Given the description of an element on the screen output the (x, y) to click on. 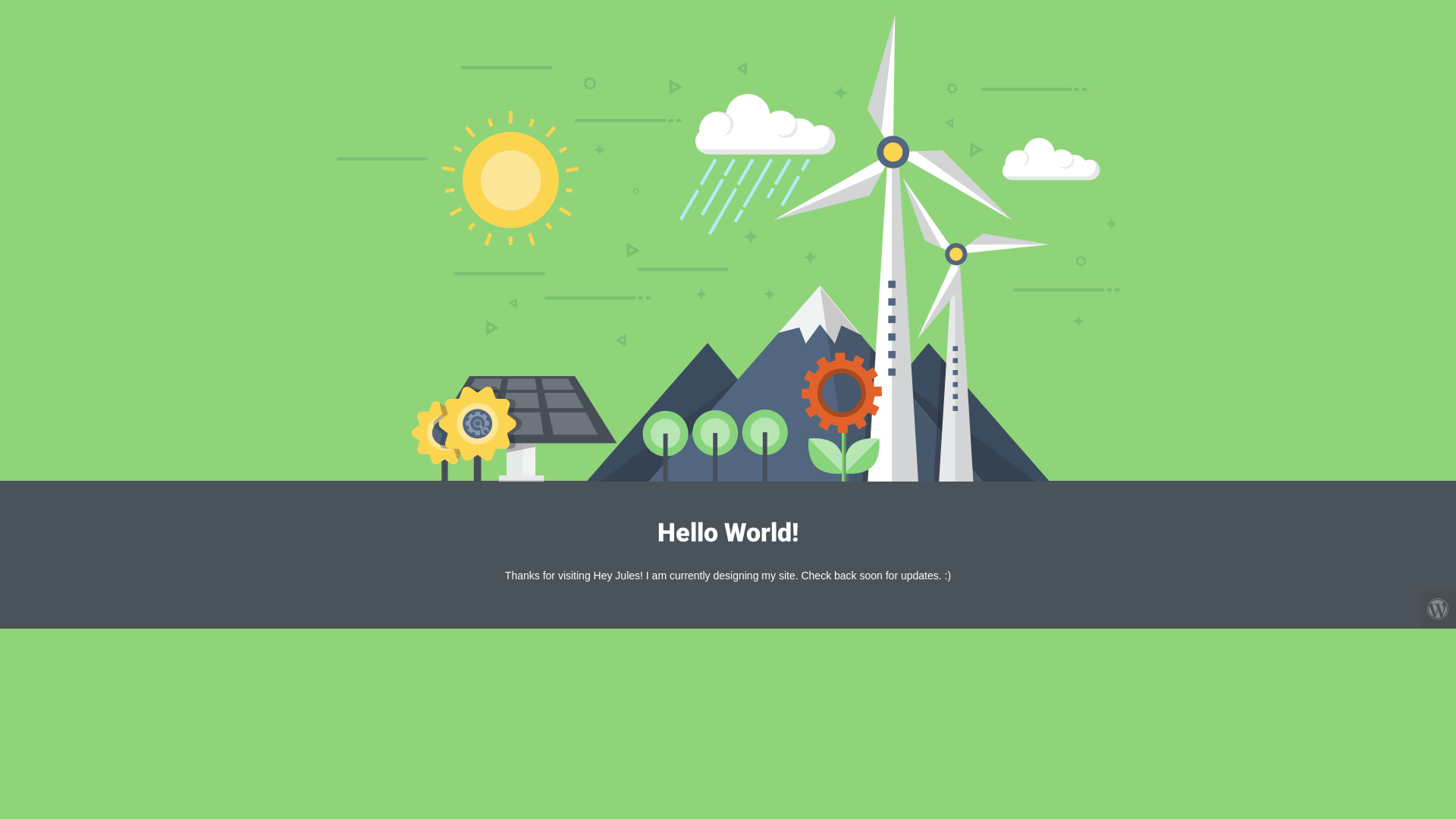
Windmill Element type: hover (728, 248)
